Given the description of an element on the screen output the (x, y) to click on. 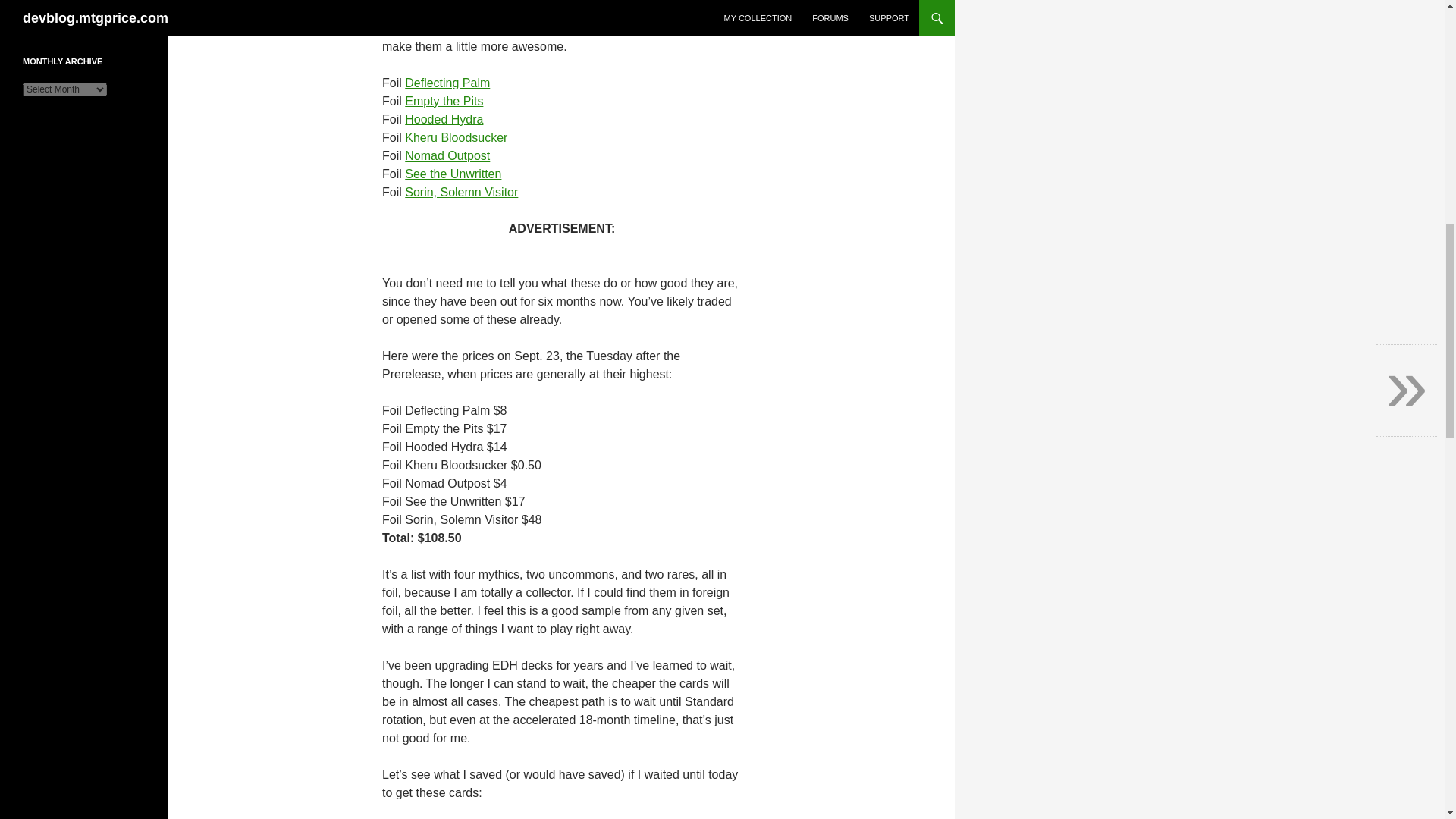
Nomad Outpost (446, 155)
Sorin, Solemn Visitor (461, 192)
See the Unwritten (452, 173)
Hooded Hydra (443, 119)
Empty the Pits (443, 101)
Weekend Update (58, 11)
Deflecting Palm (446, 82)
Kheru Bloodsucker (455, 137)
